Given the description of an element on the screen output the (x, y) to click on. 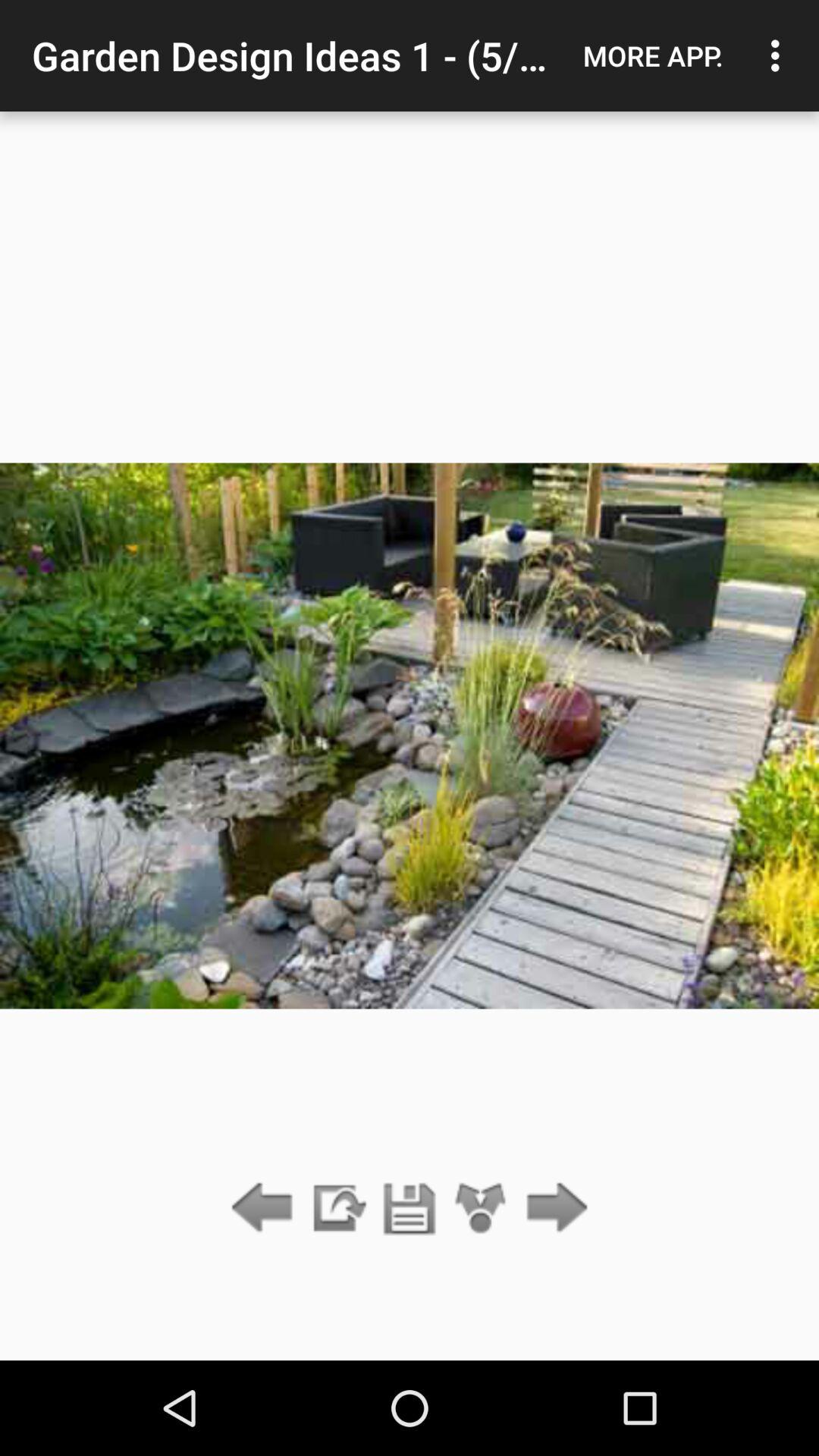
save the image (409, 1208)
